Given the description of an element on the screen output the (x, y) to click on. 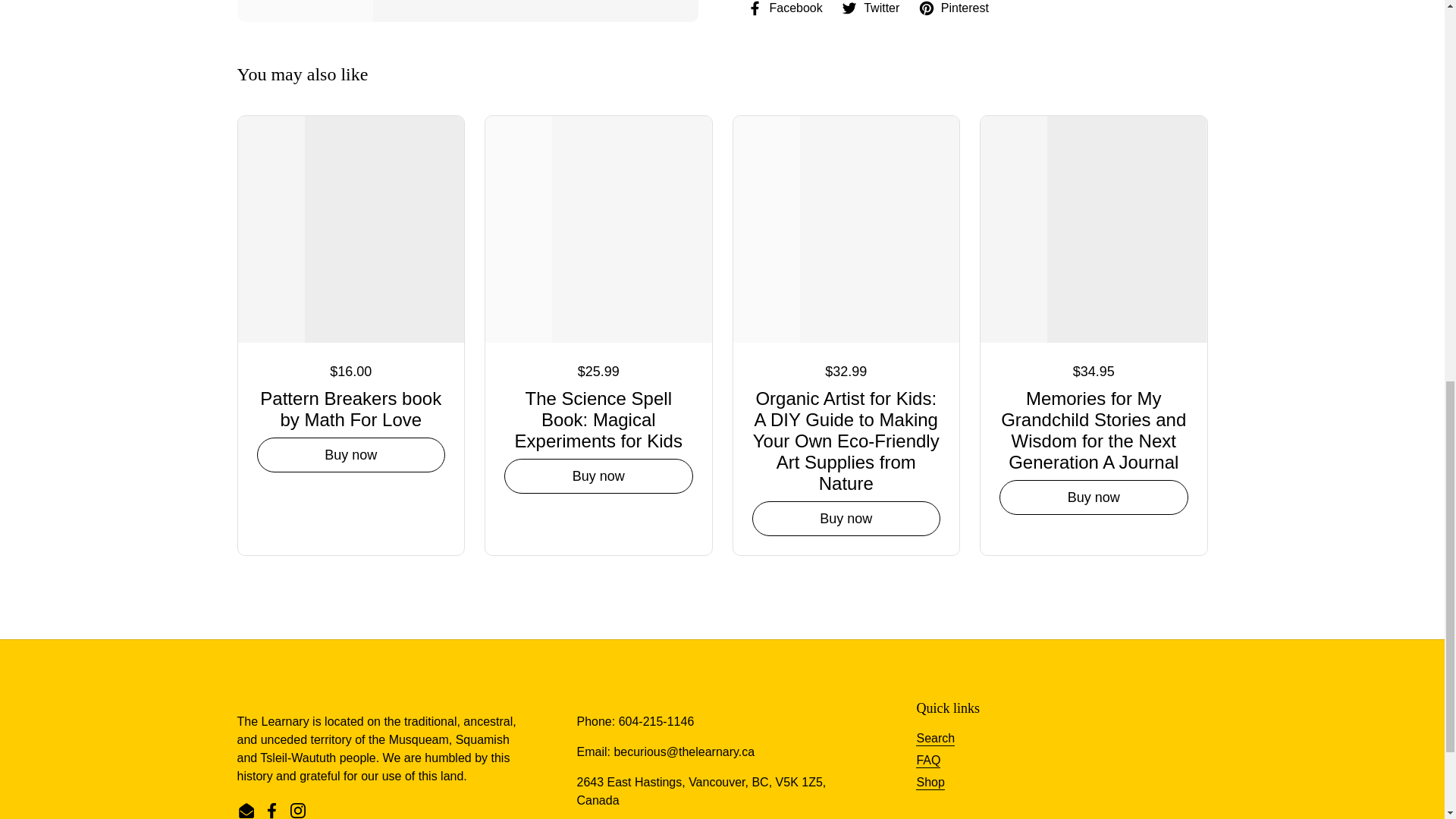
The Science Spell Book: Magical Experiments for Kids (598, 420)
Share on pinterest (953, 8)
Pattern Breakers book by Math For Love (350, 410)
Share on facebook (783, 8)
Share on twitter (870, 8)
